Given the description of an element on the screen output the (x, y) to click on. 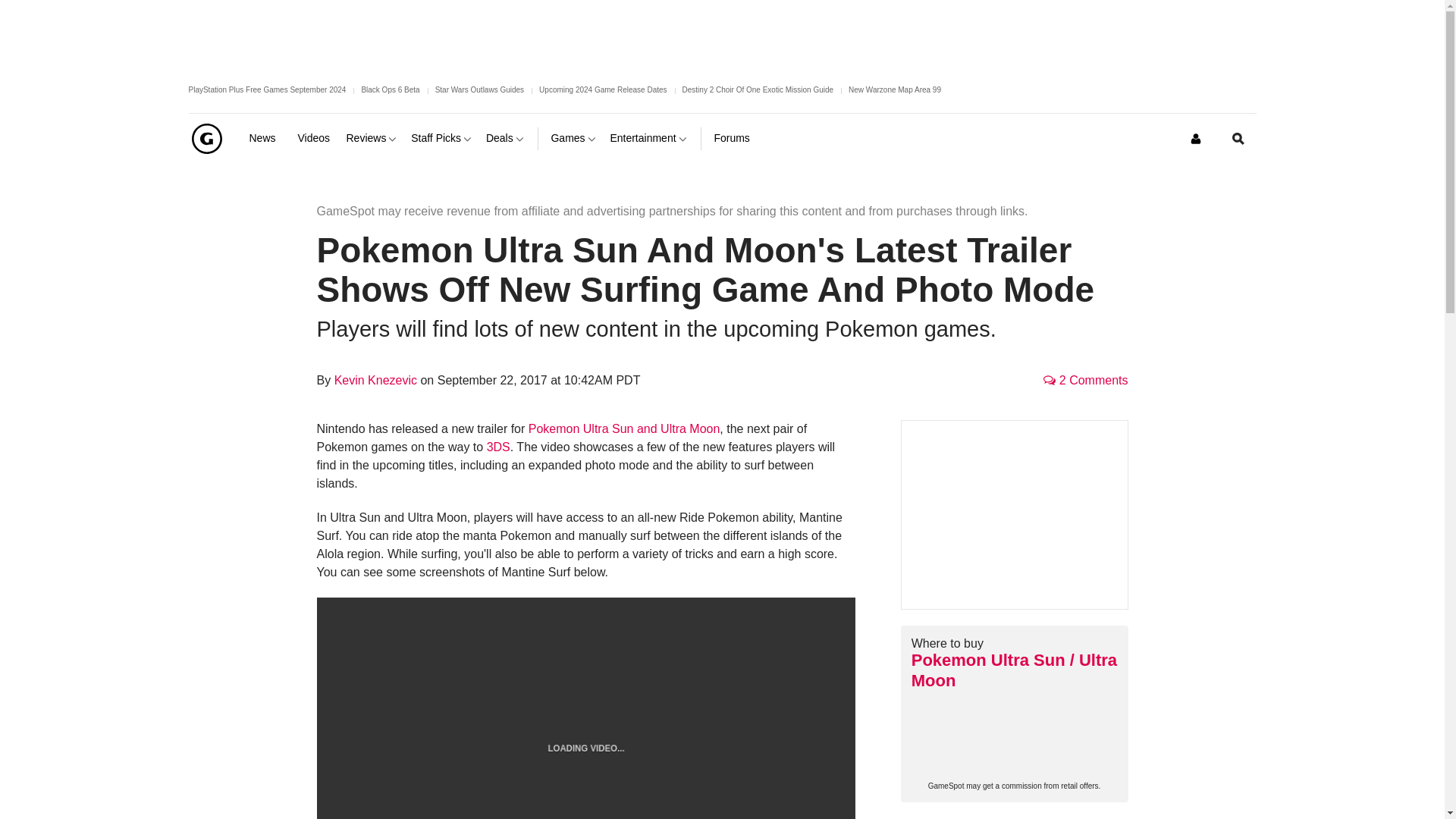
GameSpot (205, 138)
Upcoming 2024 Game Release Dates (602, 89)
Reviews (372, 138)
Deals (505, 138)
Videos (315, 138)
New Warzone Map Area 99 (894, 89)
News (266, 138)
Destiny 2 Choir Of One Exotic Mission Guide (758, 89)
Black Ops 6 Beta (390, 89)
